Given the description of an element on the screen output the (x, y) to click on. 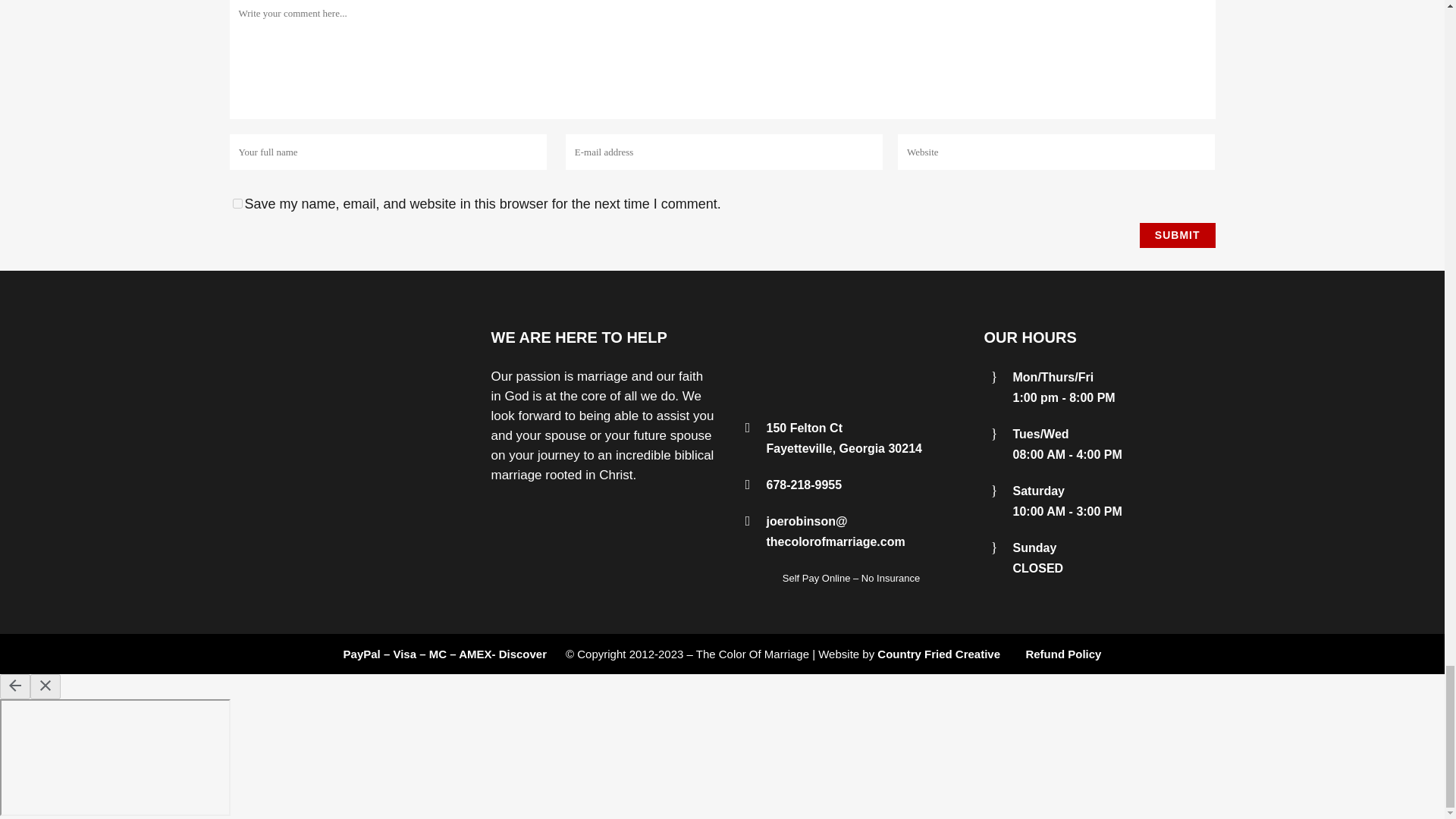
yes (236, 203)
Submit (1177, 235)
